Given the description of an element on the screen output the (x, y) to click on. 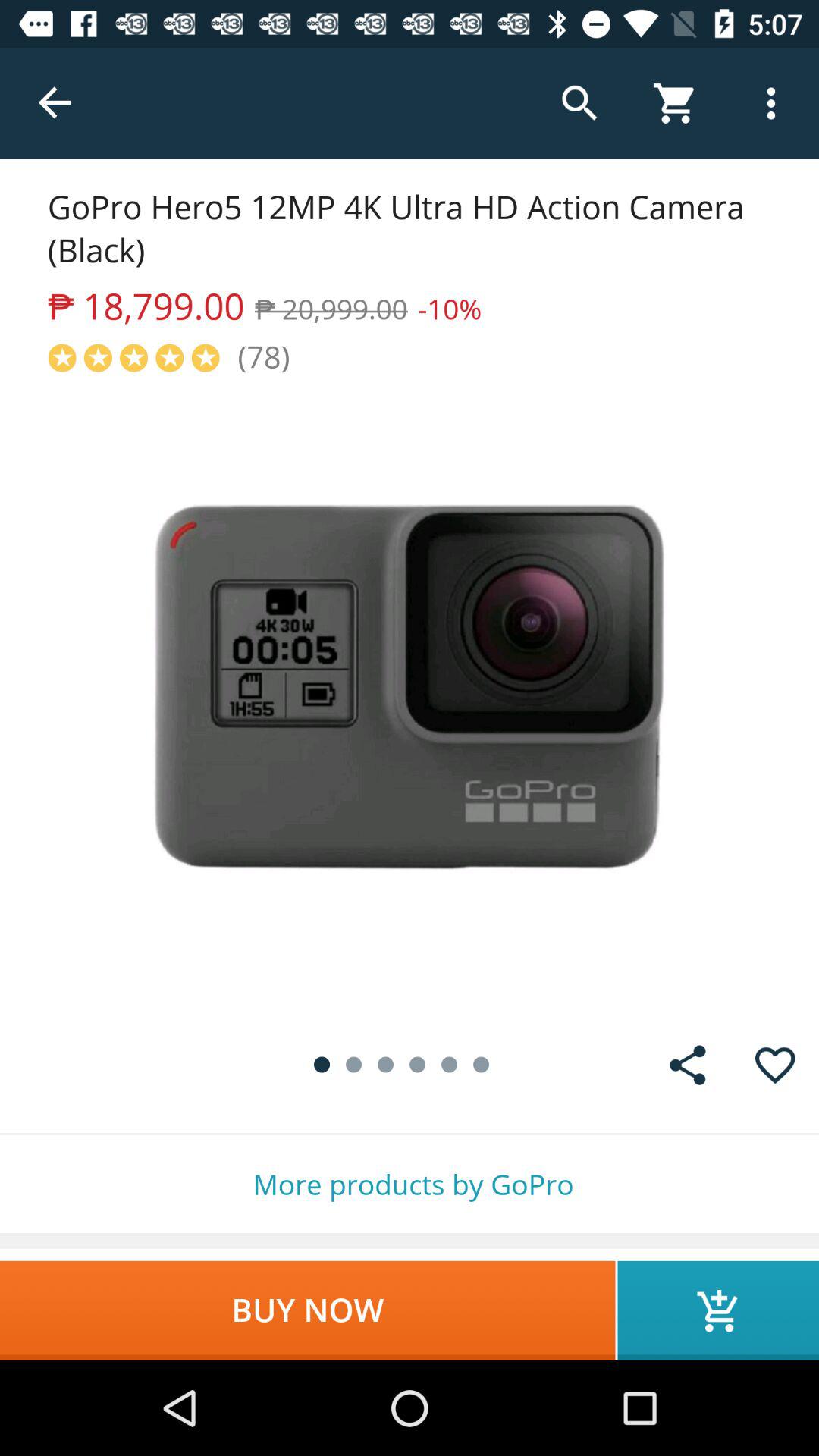
copy link to item (687, 1065)
